Given the description of an element on the screen output the (x, y) to click on. 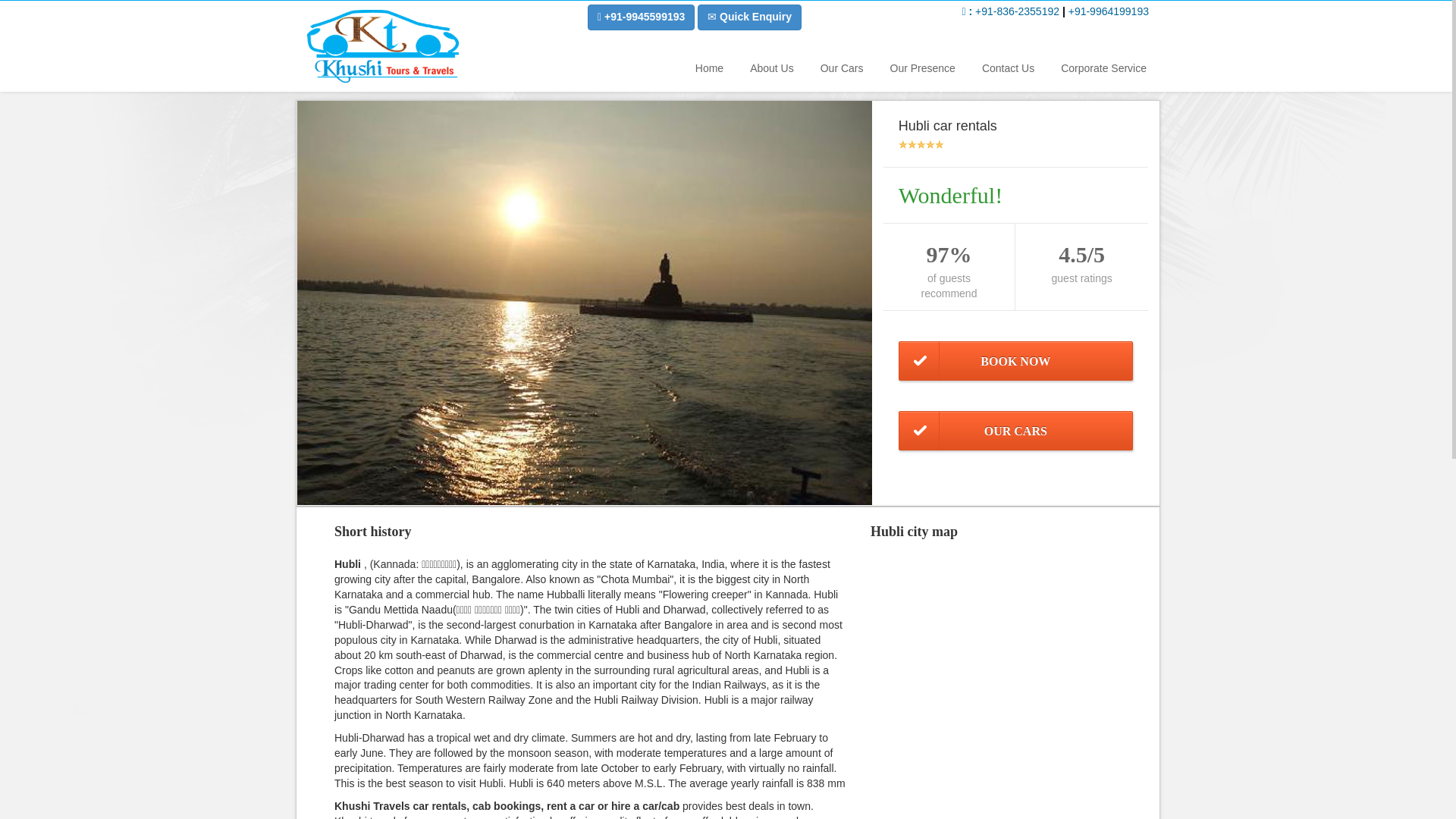
Our Cars (840, 67)
Contact Us (1006, 67)
Quick Enquiry (749, 17)
About Us (770, 67)
BOOK NOW (1015, 360)
Home (707, 67)
Corporate Service (1101, 67)
OUR CARS (1015, 430)
Our Presence (921, 67)
